Given the description of an element on the screen output the (x, y) to click on. 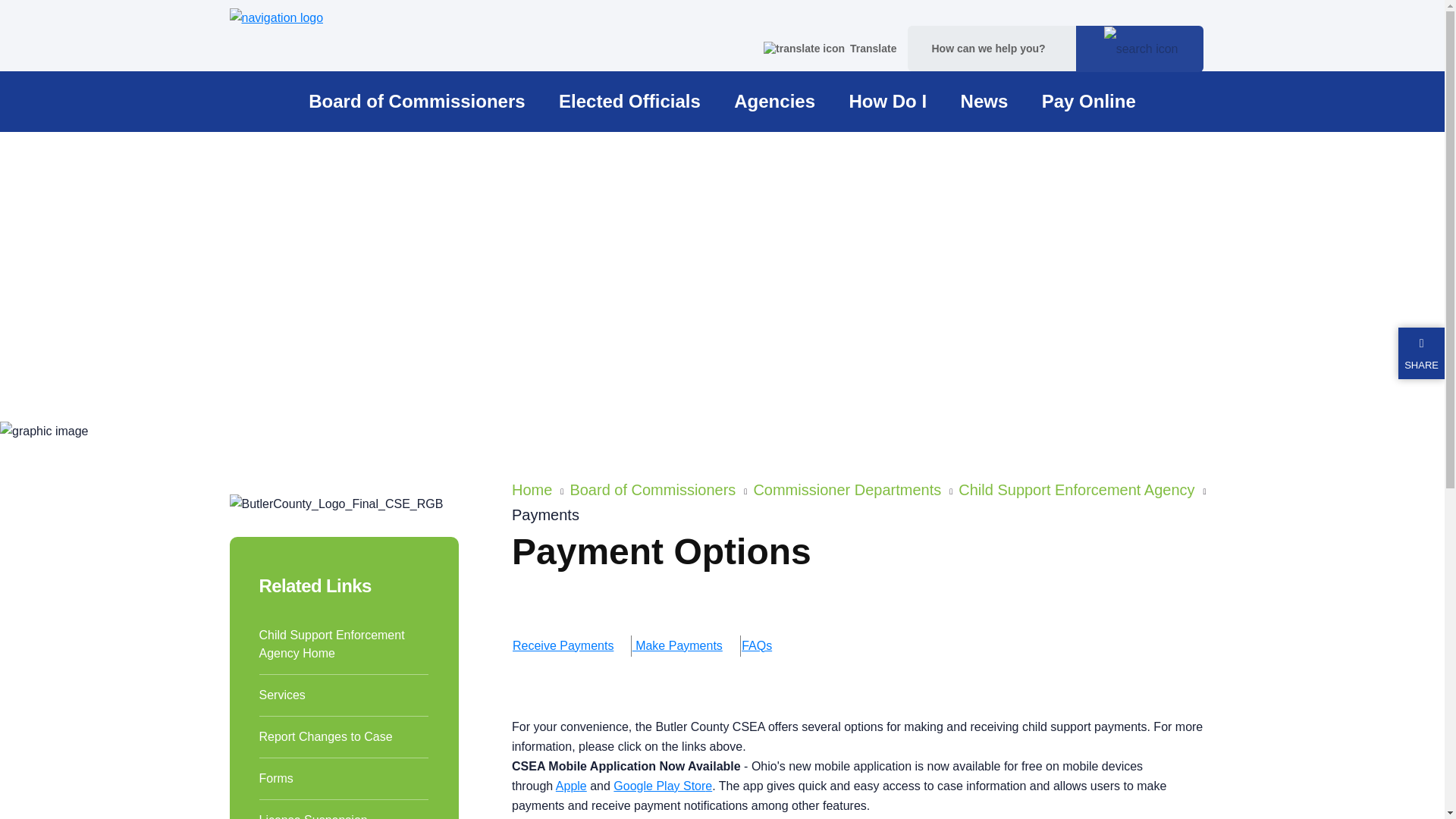
Translate (829, 48)
